Given the description of an element on the screen output the (x, y) to click on. 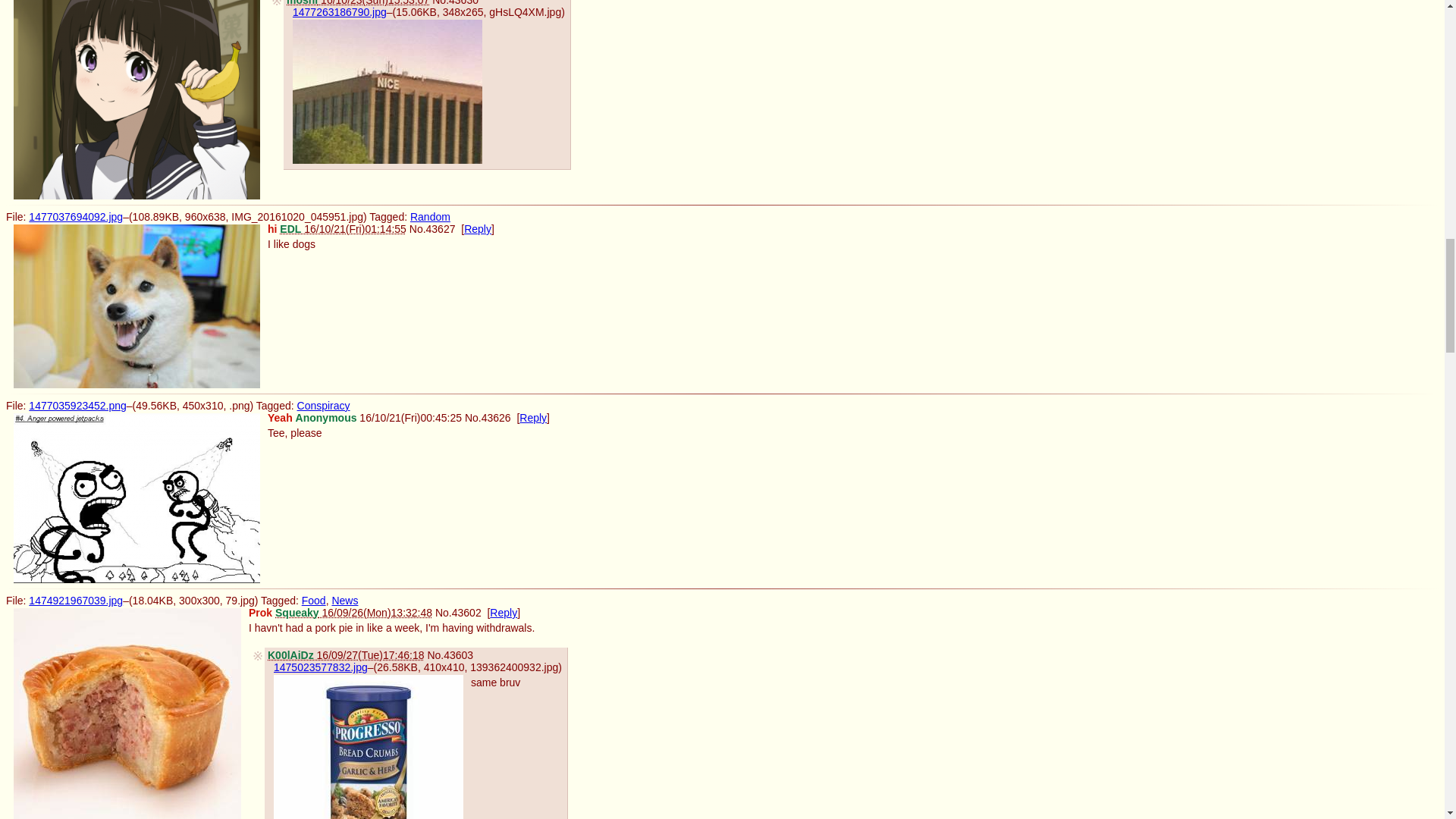
Registered 7 years, 5 months, 27 days ago (342, 228)
Registered 10 years, 7 months, 24 days ago (357, 2)
